Given the description of an element on the screen output the (x, y) to click on. 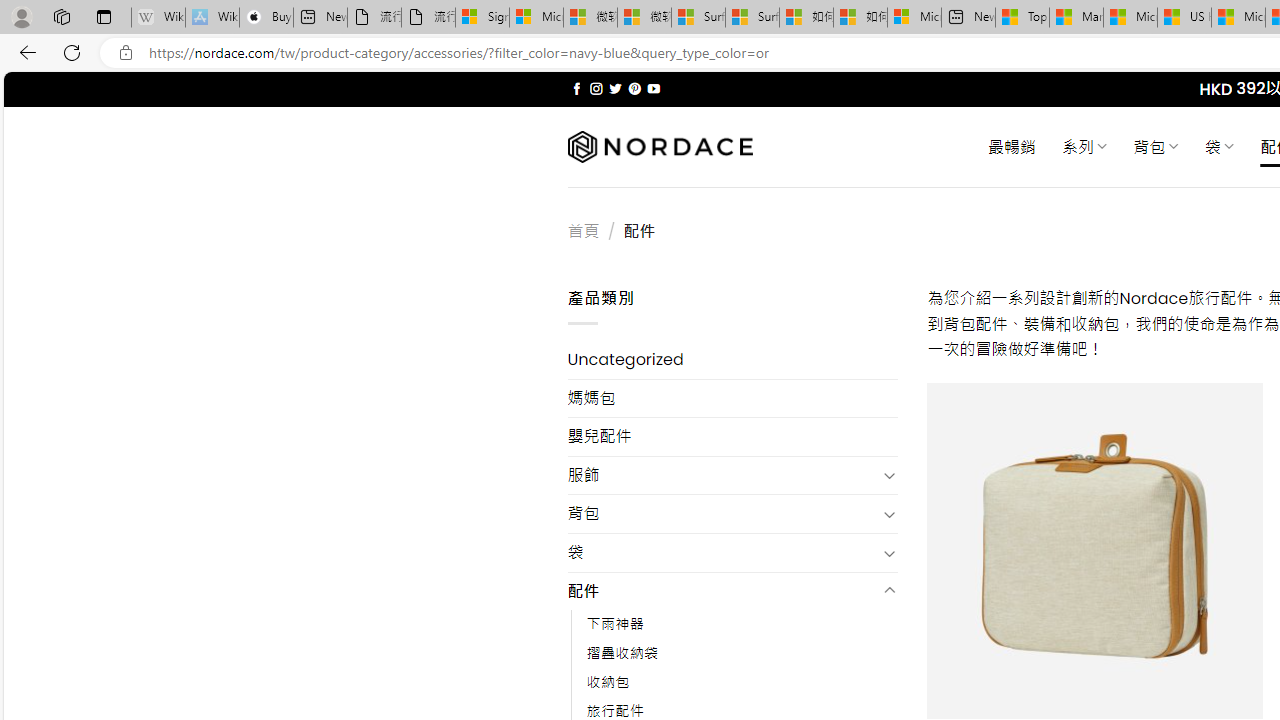
Follow on YouTube (653, 88)
Follow on Twitter (615, 88)
Follow on Instagram (596, 88)
Uncategorized (732, 359)
